Given the description of an element on the screen output the (x, y) to click on. 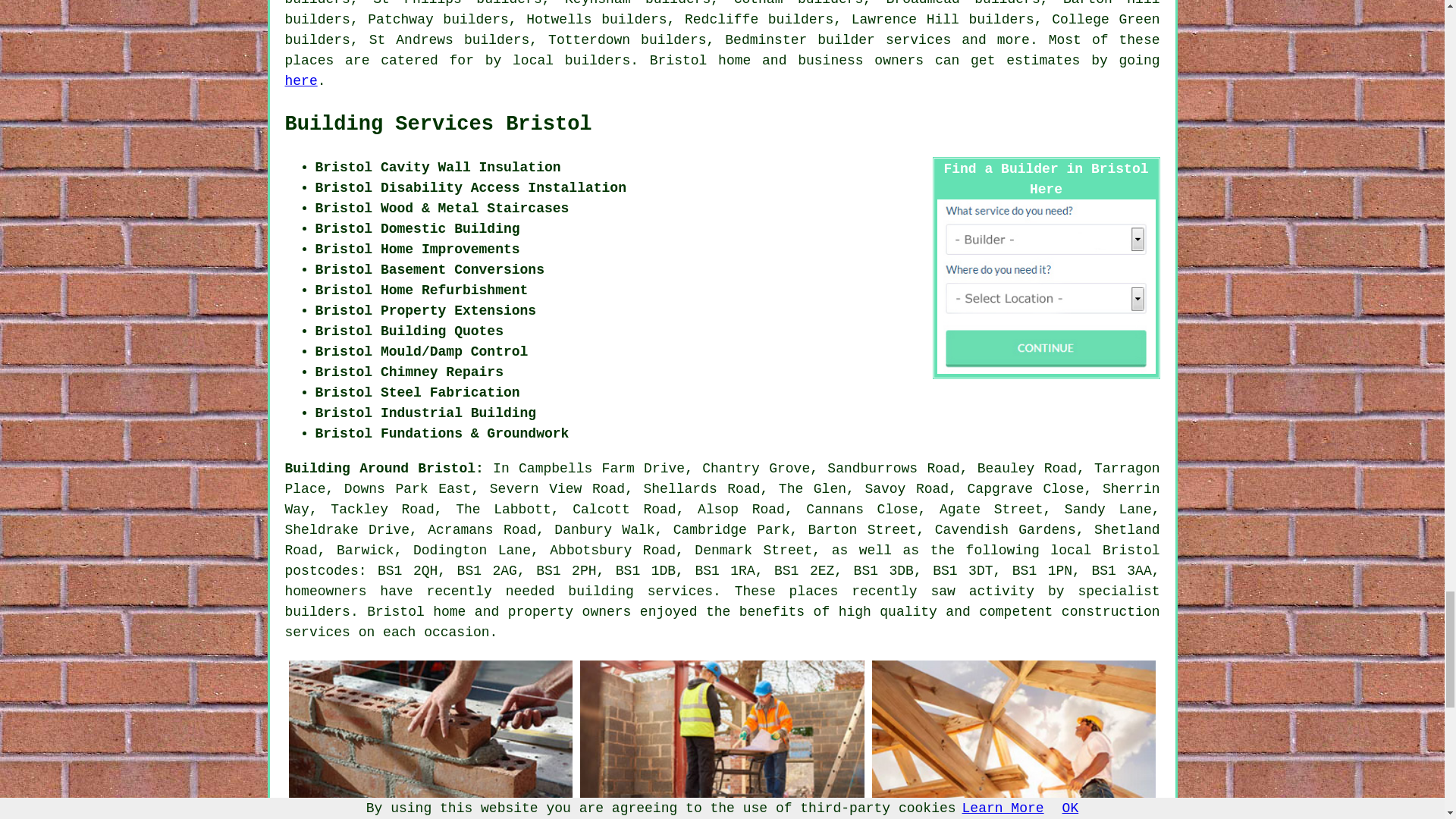
Building Companies Near Me Bristol (721, 739)
Building Contractors Bristol UK (1014, 739)
Builders Bristol (430, 739)
